Given the description of an element on the screen output the (x, y) to click on. 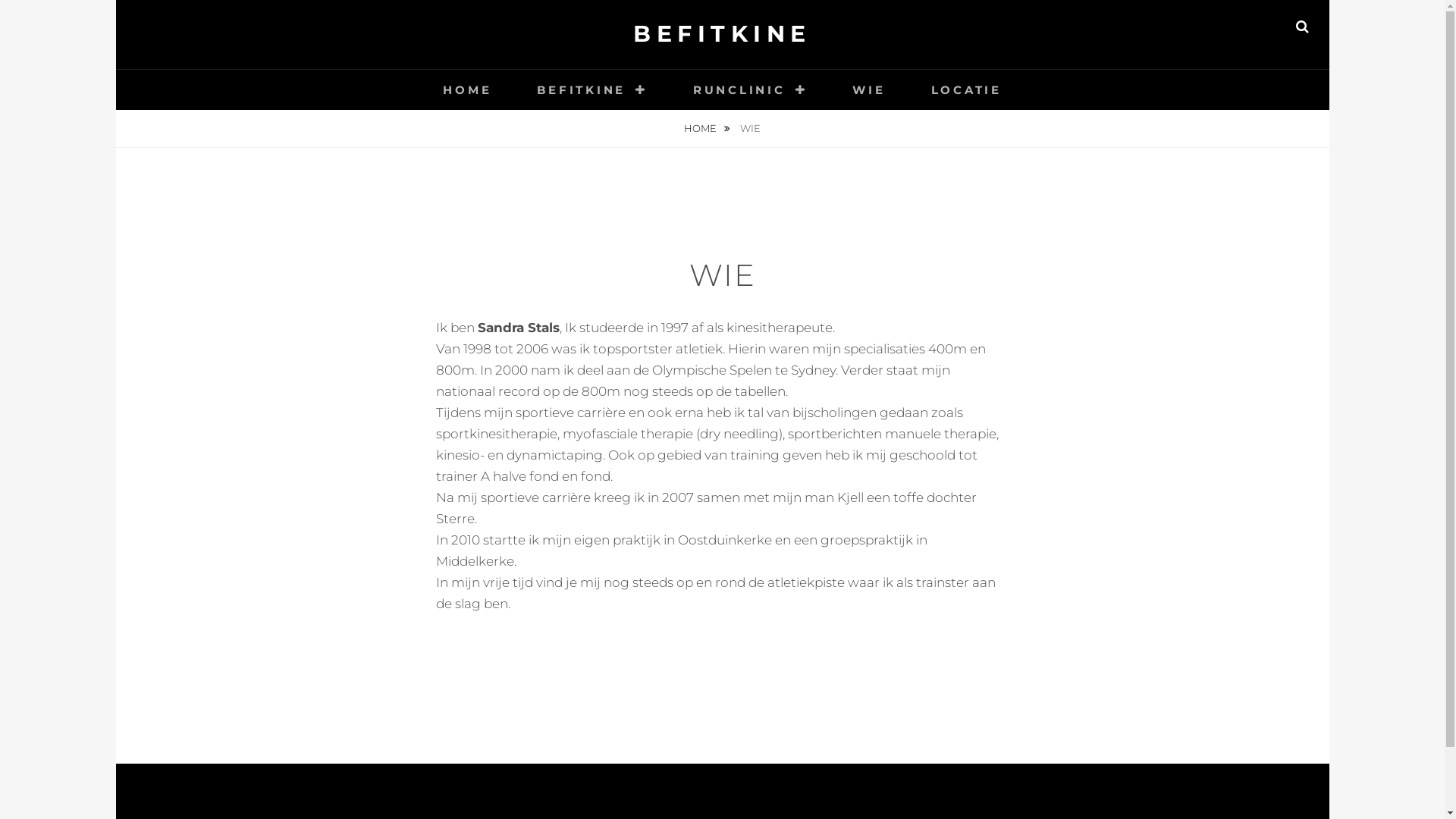
HOME Element type: text (706, 128)
WIE Element type: text (868, 89)
BEFITKINE Element type: text (591, 89)
BEFITKINE Element type: text (722, 33)
LOCATIE Element type: text (966, 89)
ZOEKEN Element type: text (1302, 26)
HOME Element type: text (466, 89)
RUNCLINIC Element type: text (749, 89)
